Given the description of an element on the screen output the (x, y) to click on. 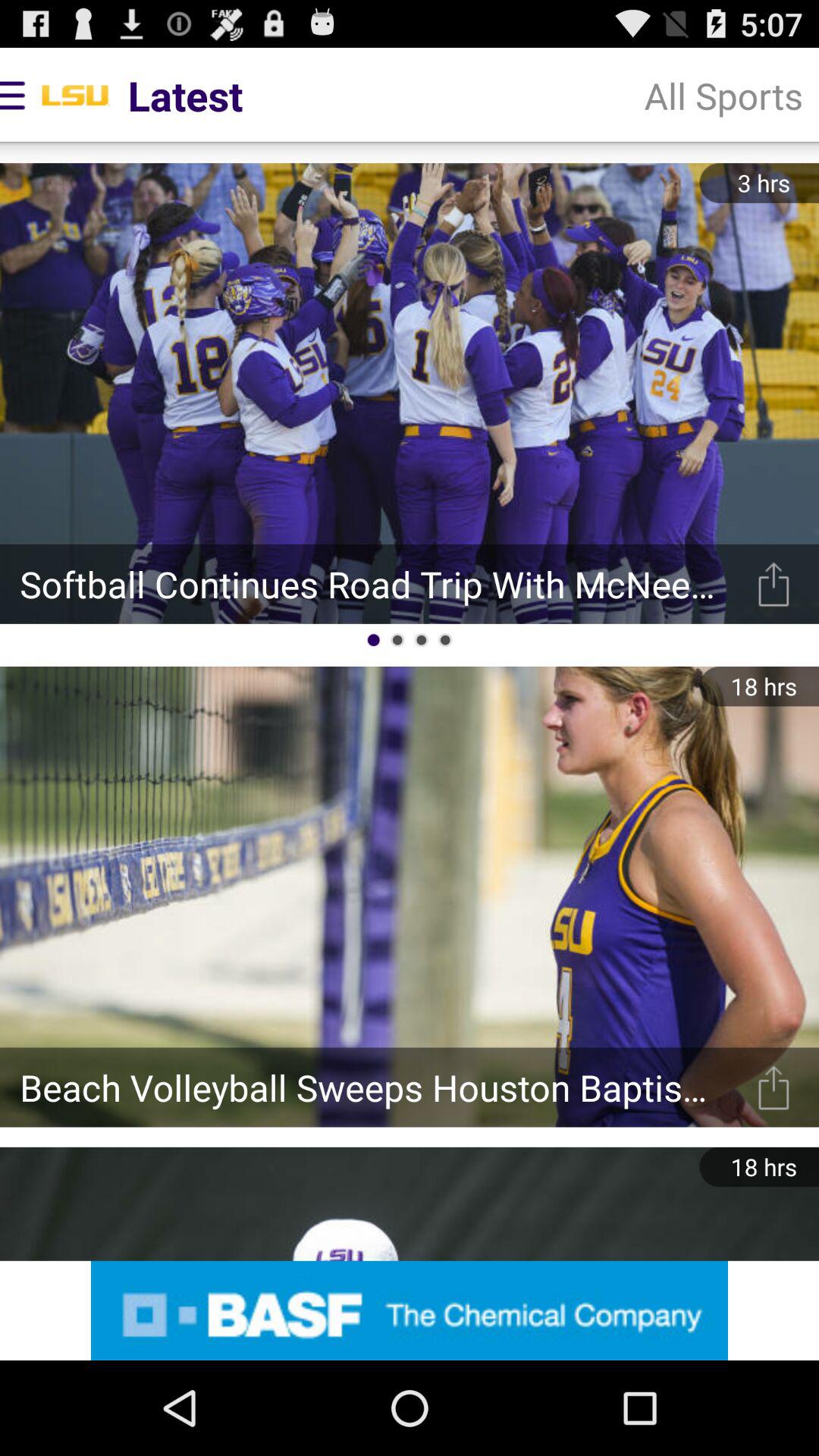
upload (773, 1087)
